Given the description of an element on the screen output the (x, y) to click on. 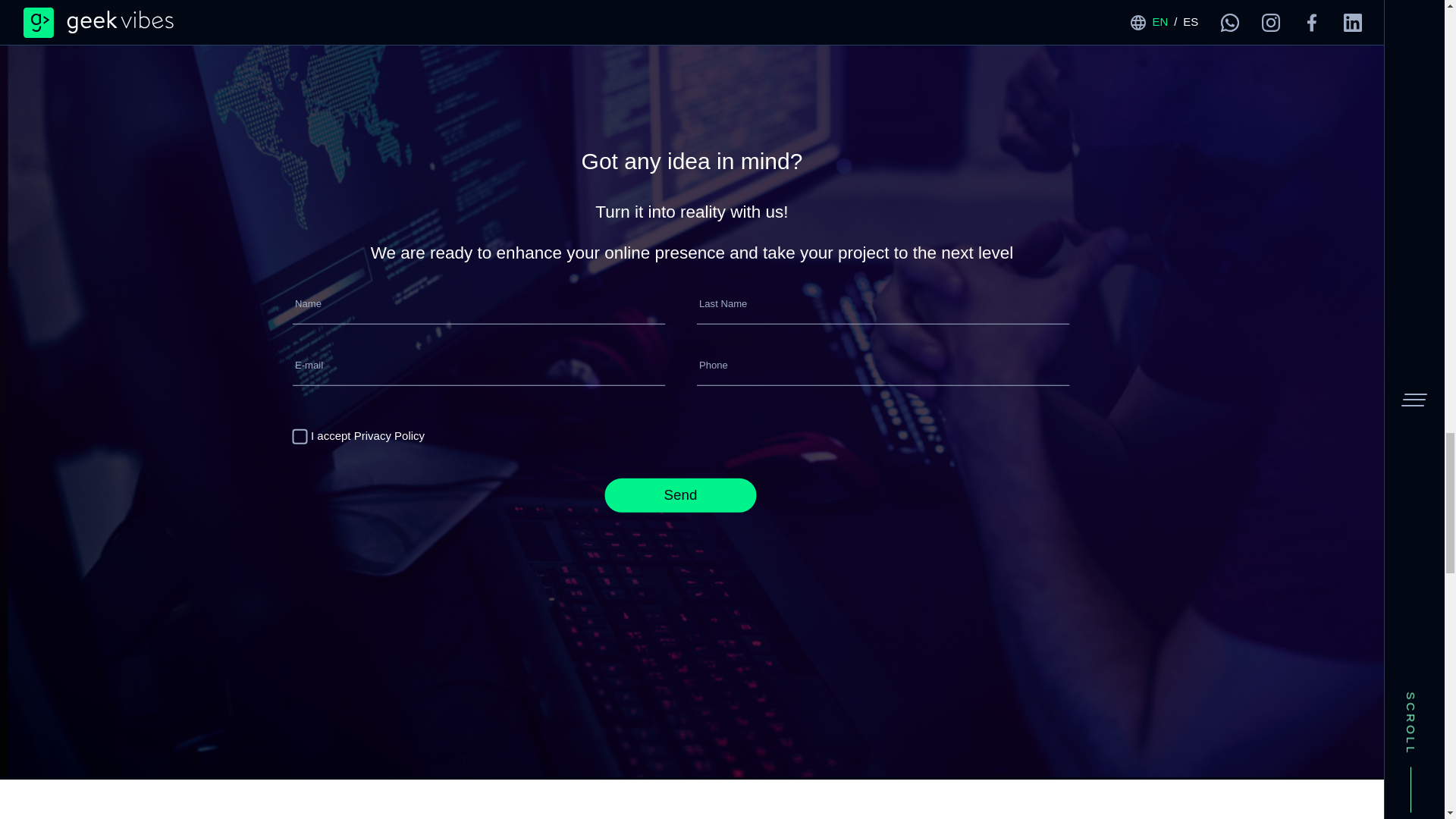
Privacy Policy (389, 435)
Send (681, 495)
